Given the description of an element on the screen output the (x, y) to click on. 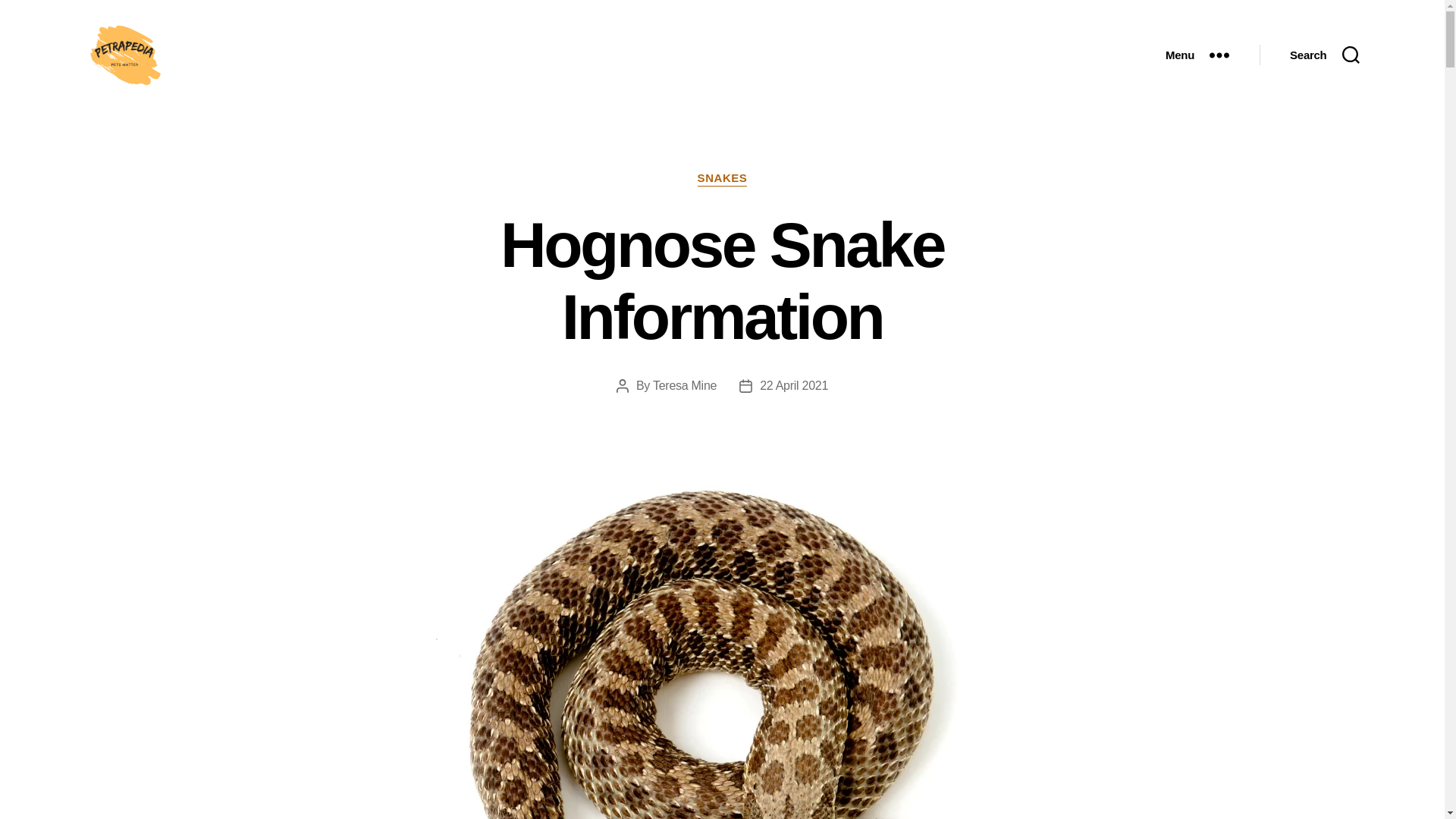
Menu (1197, 55)
Teresa Mine (684, 385)
Search (1324, 55)
SNAKES (722, 178)
22 April 2021 (794, 385)
